Given the description of an element on the screen output the (x, y) to click on. 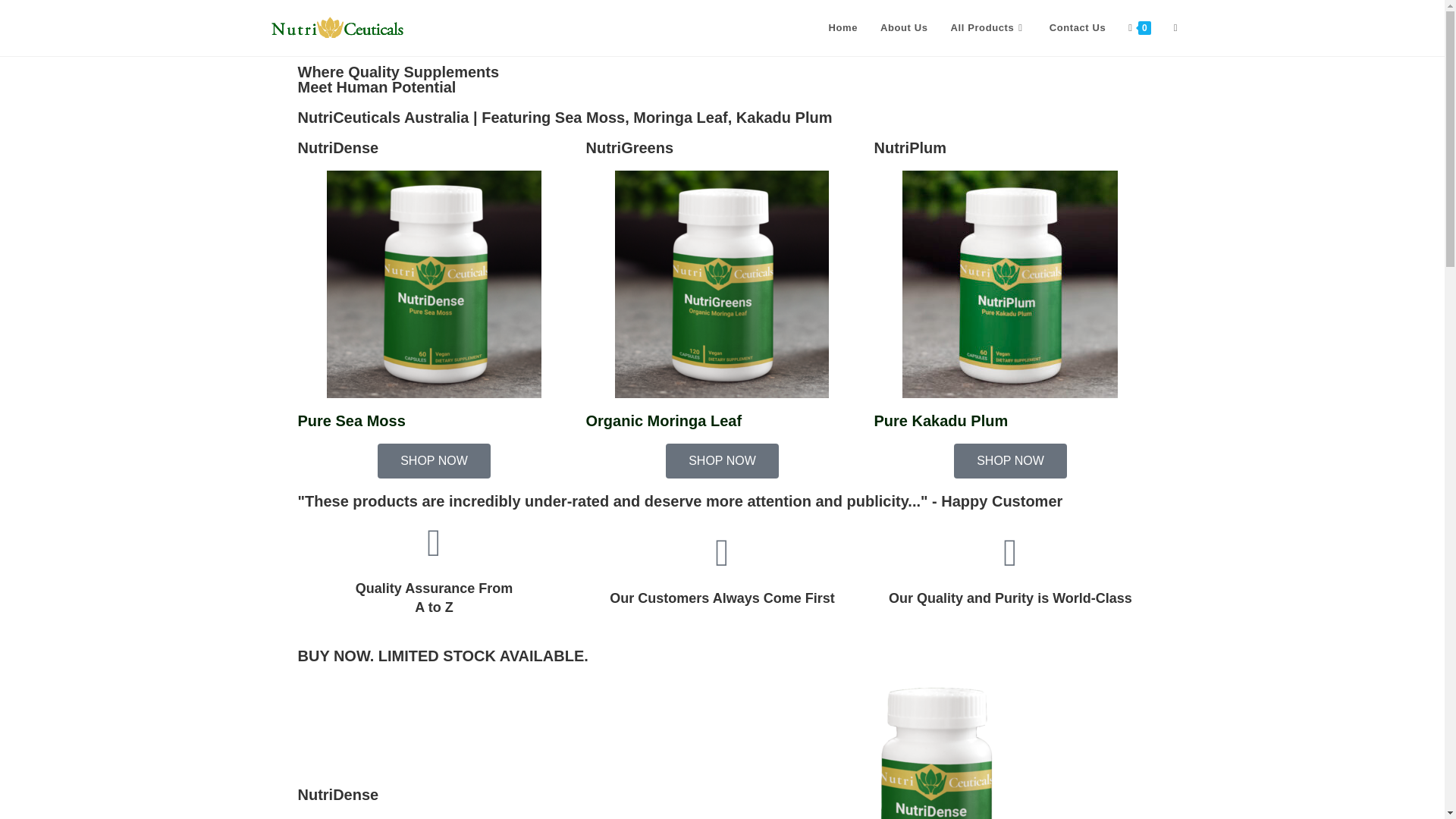
SHOP NOW (721, 460)
About Us (904, 28)
All Products (988, 28)
Home (842, 28)
SHOP NOW (1010, 460)
SHOP NOW (433, 460)
Contact Us (1078, 28)
